Given the description of an element on the screen output the (x, y) to click on. 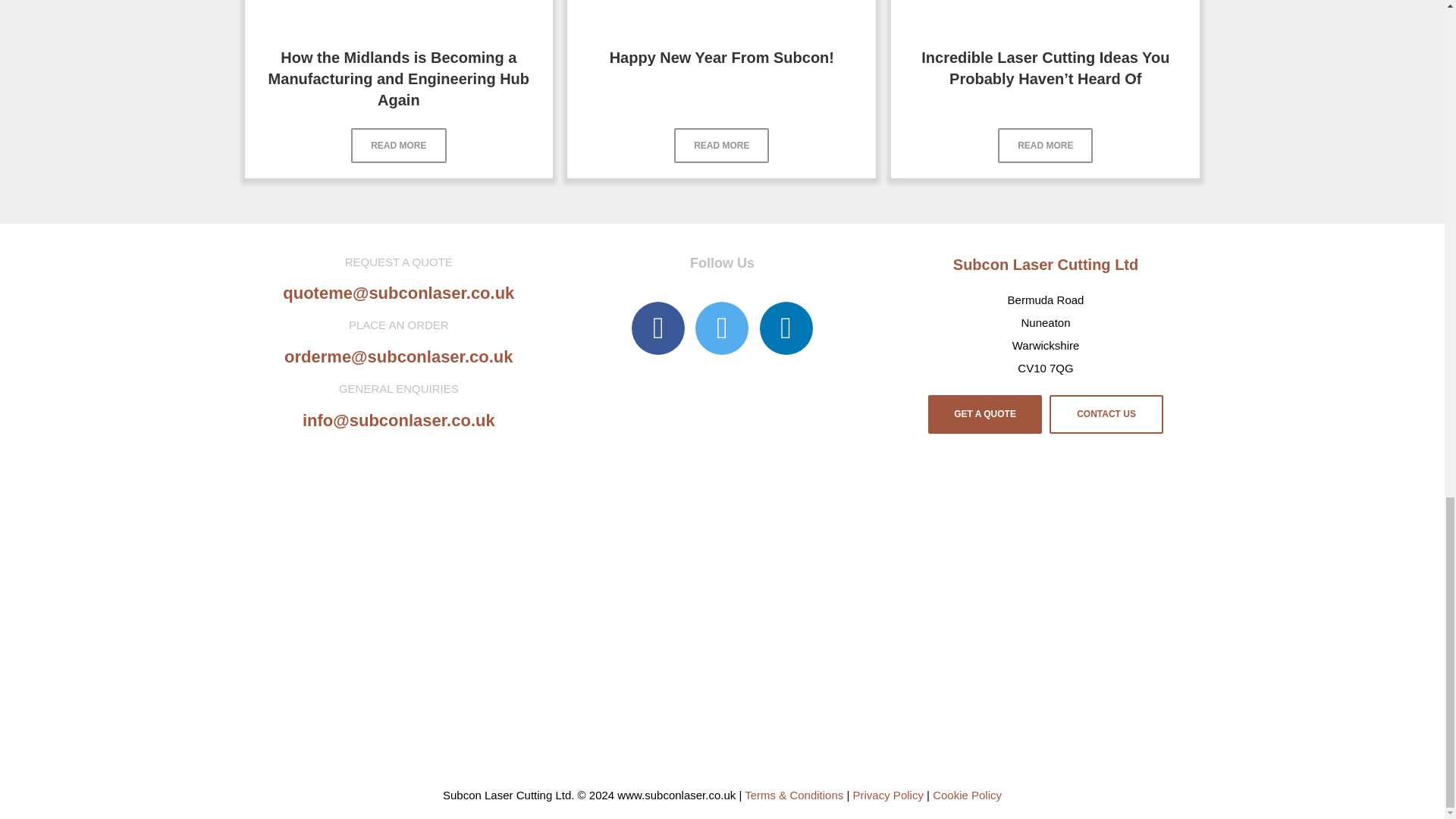
Happy New Year From Subcon! (722, 57)
GET A QUOTE (985, 414)
